Given the description of an element on the screen output the (x, y) to click on. 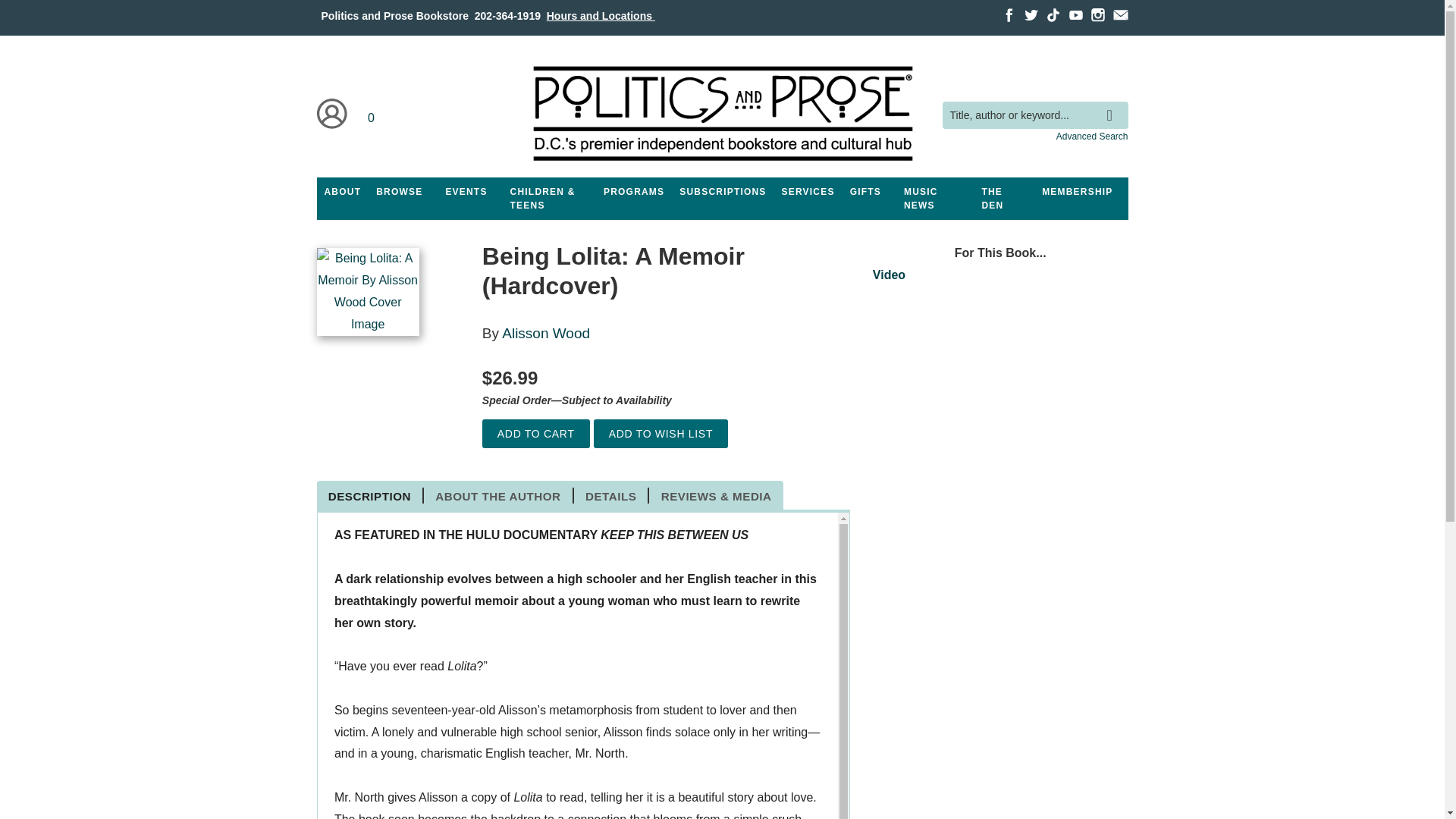
Advanced Search (1092, 136)
Title, author or keyword... (1034, 115)
See our store ours and locations (601, 15)
Hours and Locations  (601, 15)
Home (721, 114)
EVENTS (465, 191)
ABOUT (343, 191)
Add to Wish List (661, 433)
search (1112, 103)
See our event calendar (465, 191)
PROGRAMS (633, 191)
BROWSE (398, 191)
Children and Teens Department (548, 198)
Add to Cart (535, 433)
